Given the description of an element on the screen output the (x, y) to click on. 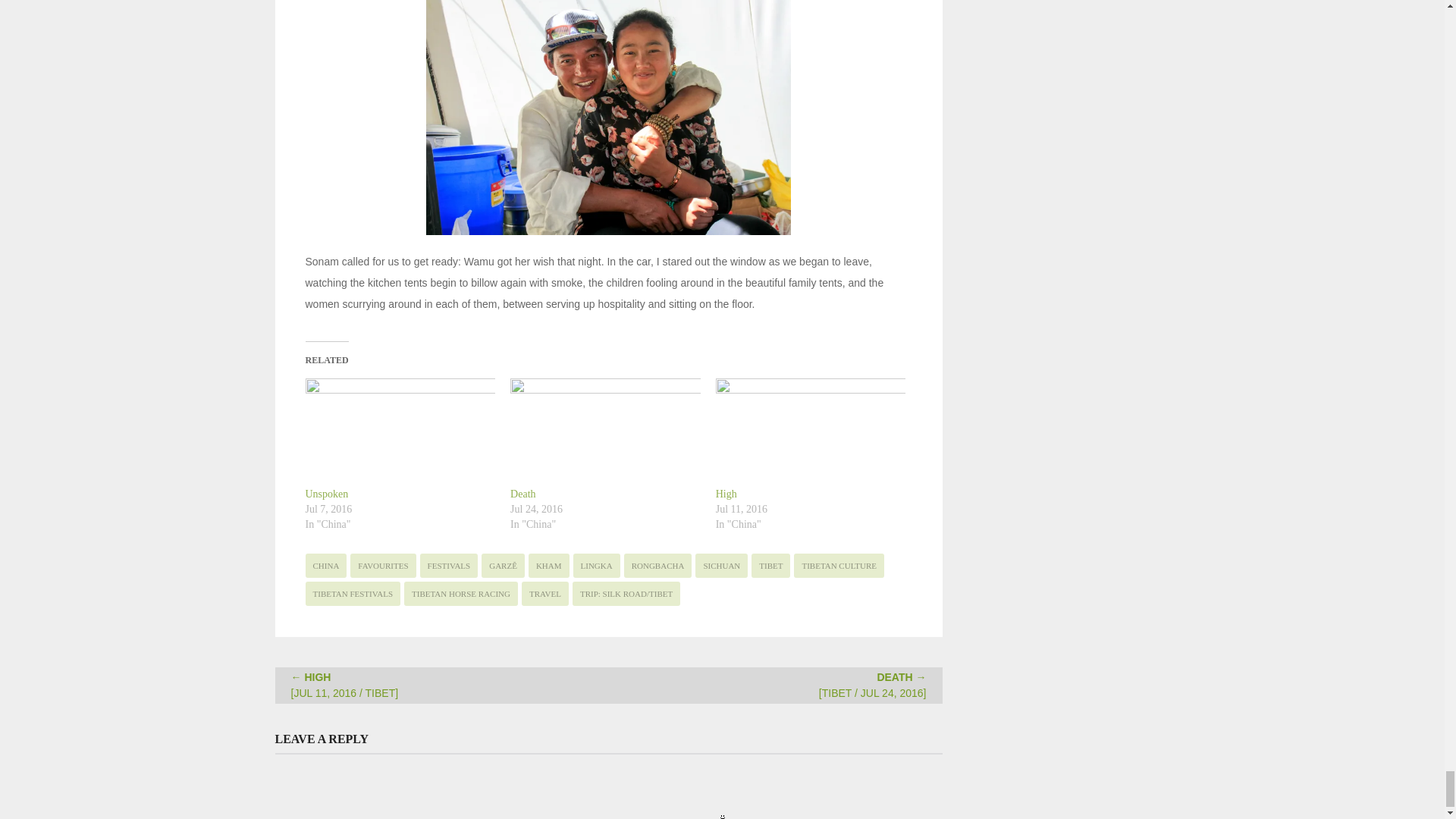
Death (523, 493)
High (726, 493)
Death (872, 684)
Unspoken (399, 432)
High (344, 684)
High (810, 432)
Unspoken (325, 493)
Death (605, 432)
